Given the description of an element on the screen output the (x, y) to click on. 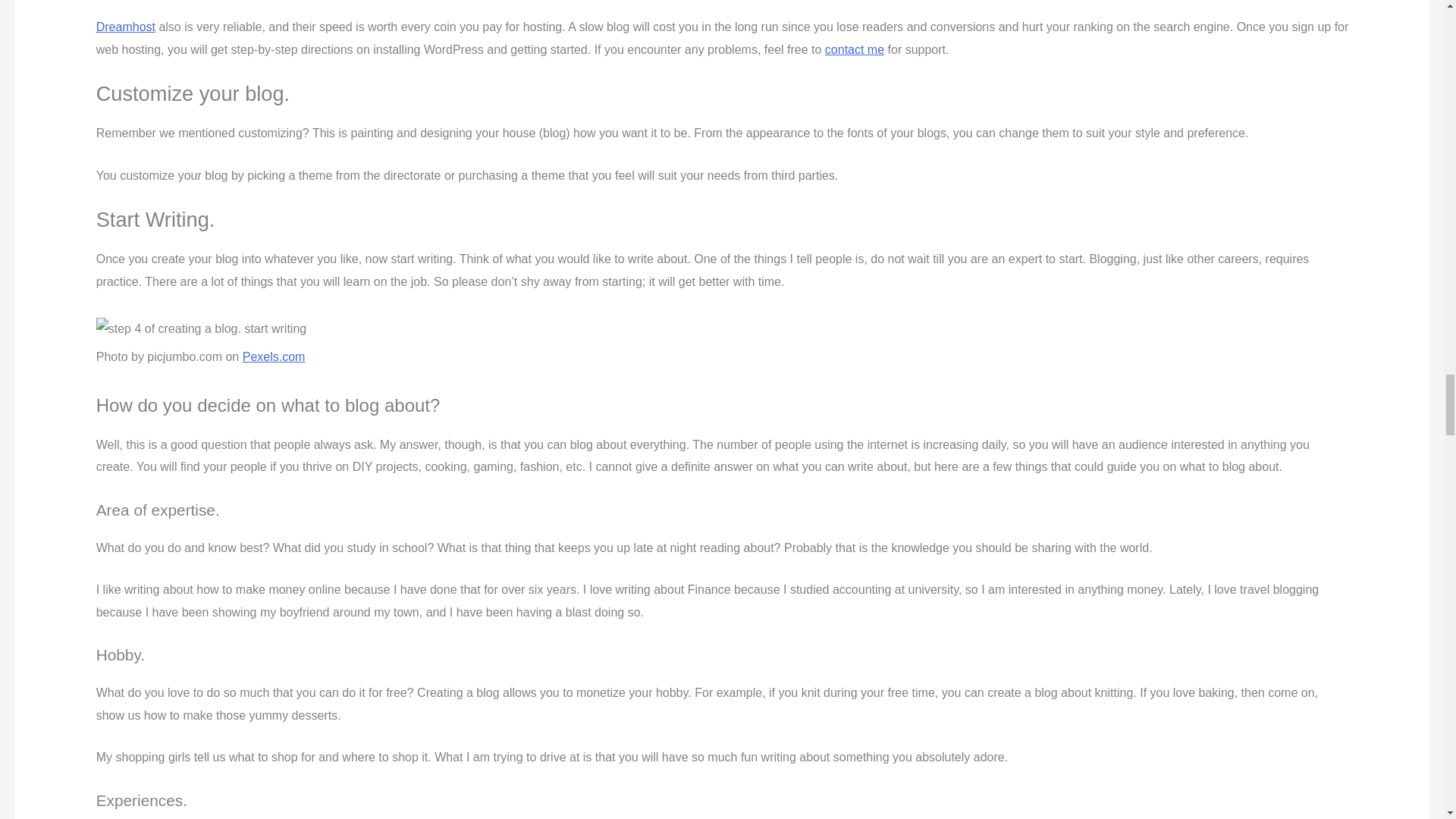
Dreamhost (125, 26)
contact me (854, 49)
Pexels.com (274, 356)
